Given the description of an element on the screen output the (x, y) to click on. 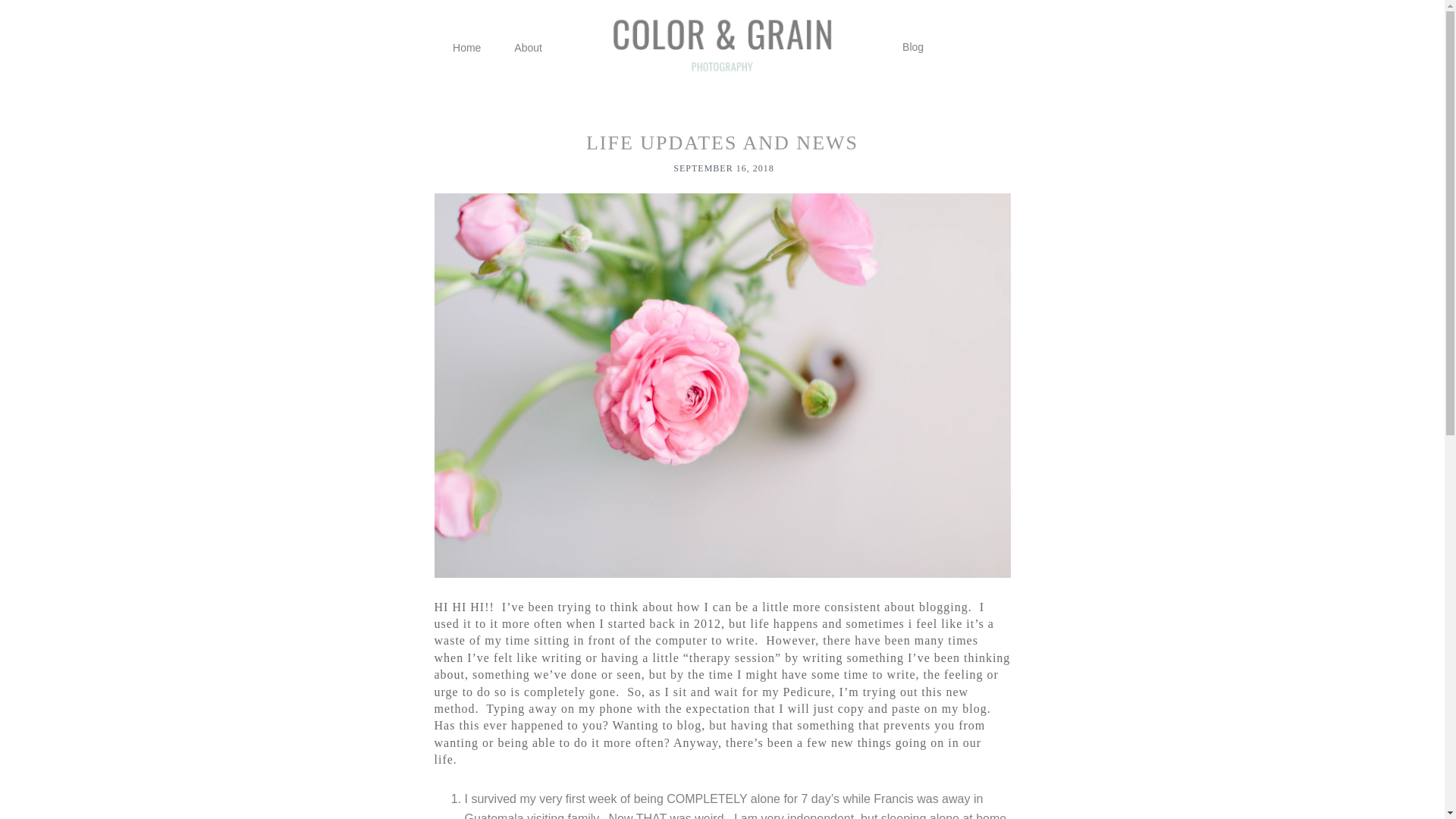
About (528, 47)
Home (467, 47)
